Given the description of an element on the screen output the (x, y) to click on. 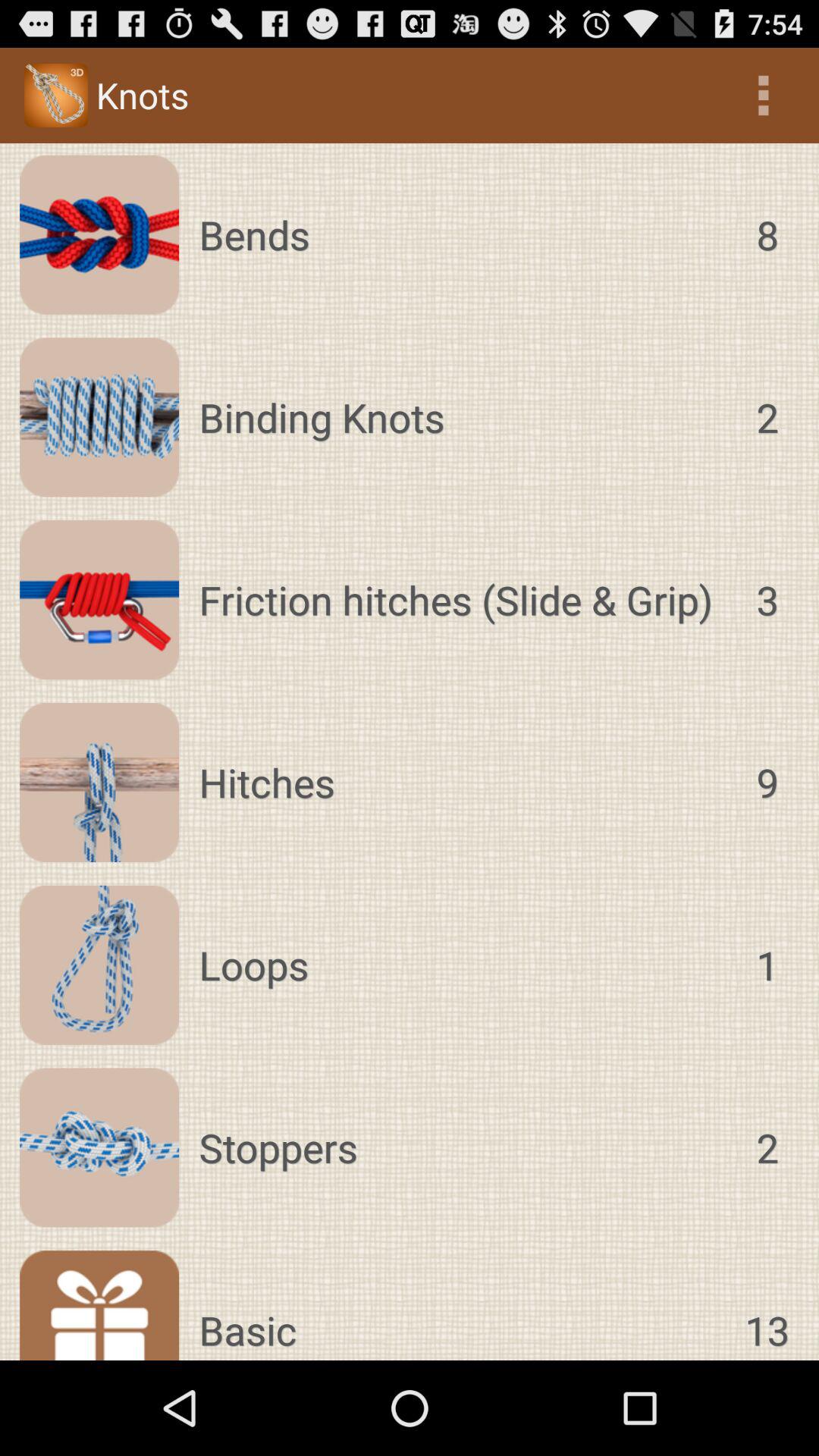
launch app next to 8 icon (463, 234)
